Given the description of an element on the screen output the (x, y) to click on. 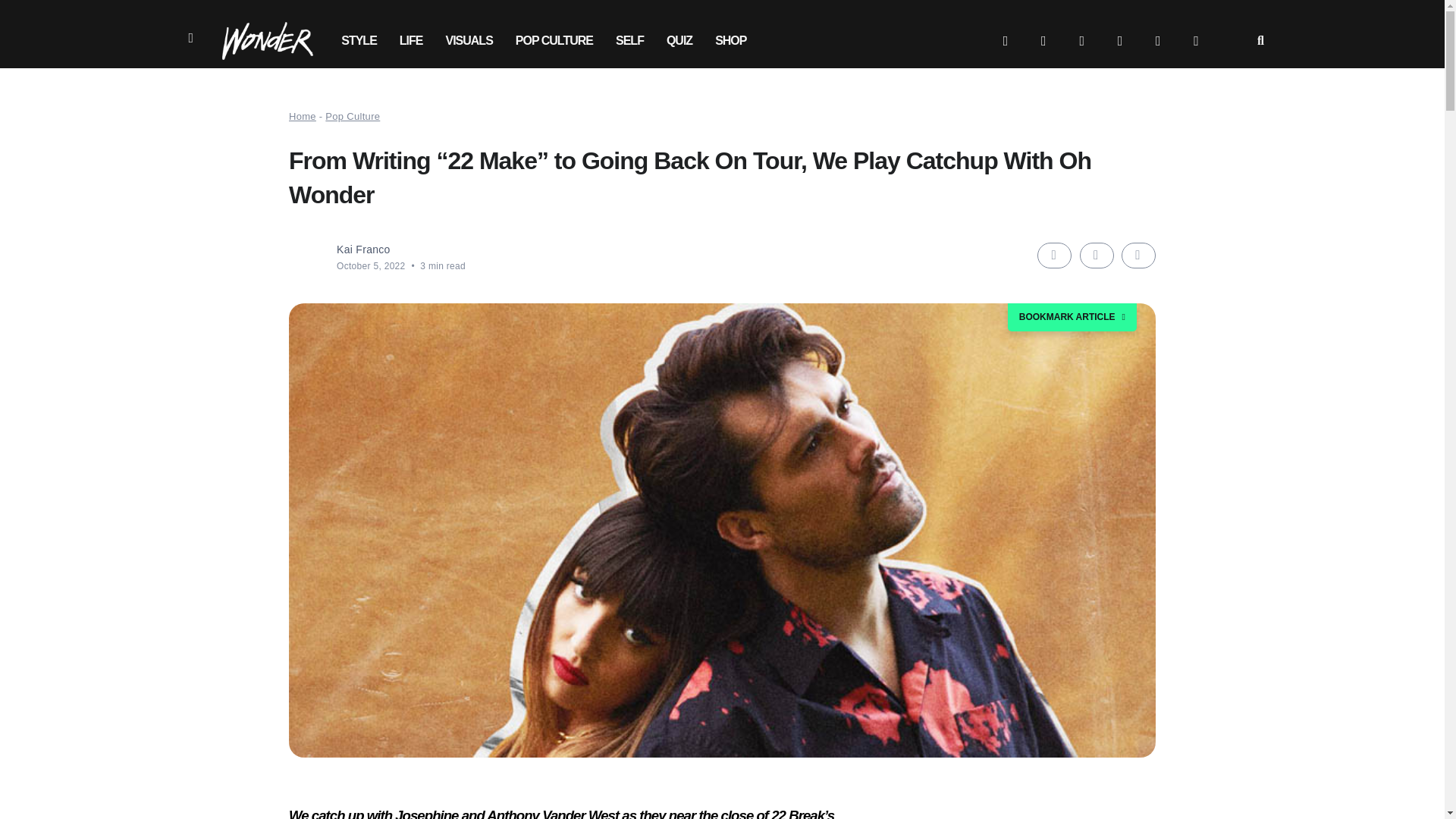
SHOP (730, 40)
SELF (629, 40)
POP CULTURE (553, 40)
STYLE (359, 40)
VISUALS (468, 40)
LIFE (410, 40)
QUIZ (679, 40)
